Given the description of an element on the screen output the (x, y) to click on. 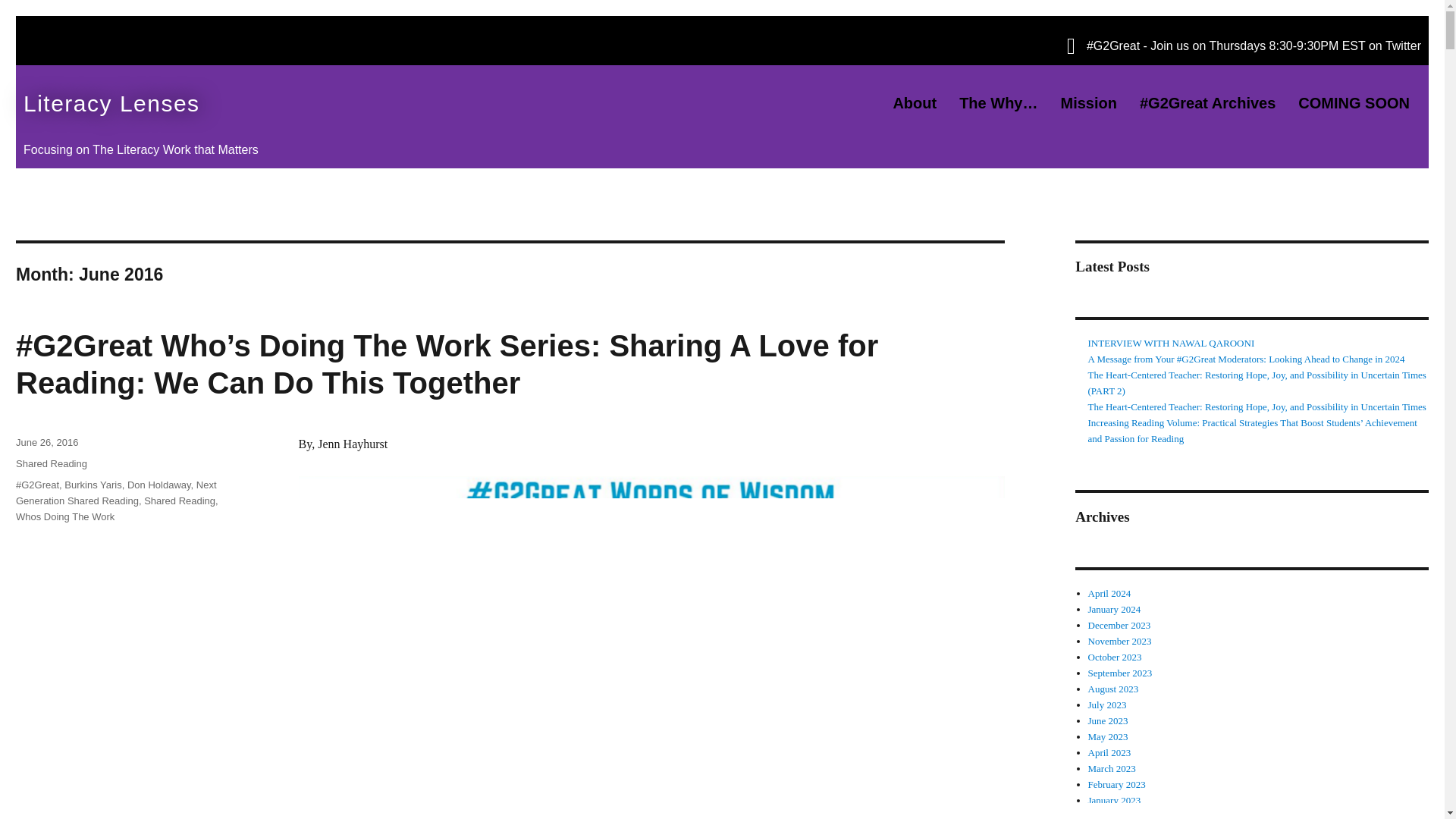
Shared Reading (179, 500)
Whos Doing The Work (65, 516)
Shared Reading (51, 463)
About (913, 103)
Don Holdaway (159, 484)
COMING SOON (1354, 103)
Mission (1088, 103)
Literacy Lenses (279, 104)
Burkins Yaris (92, 484)
Next Generation Shared Reading (116, 492)
June 26, 2016 (47, 441)
